Given the description of an element on the screen output the (x, y) to click on. 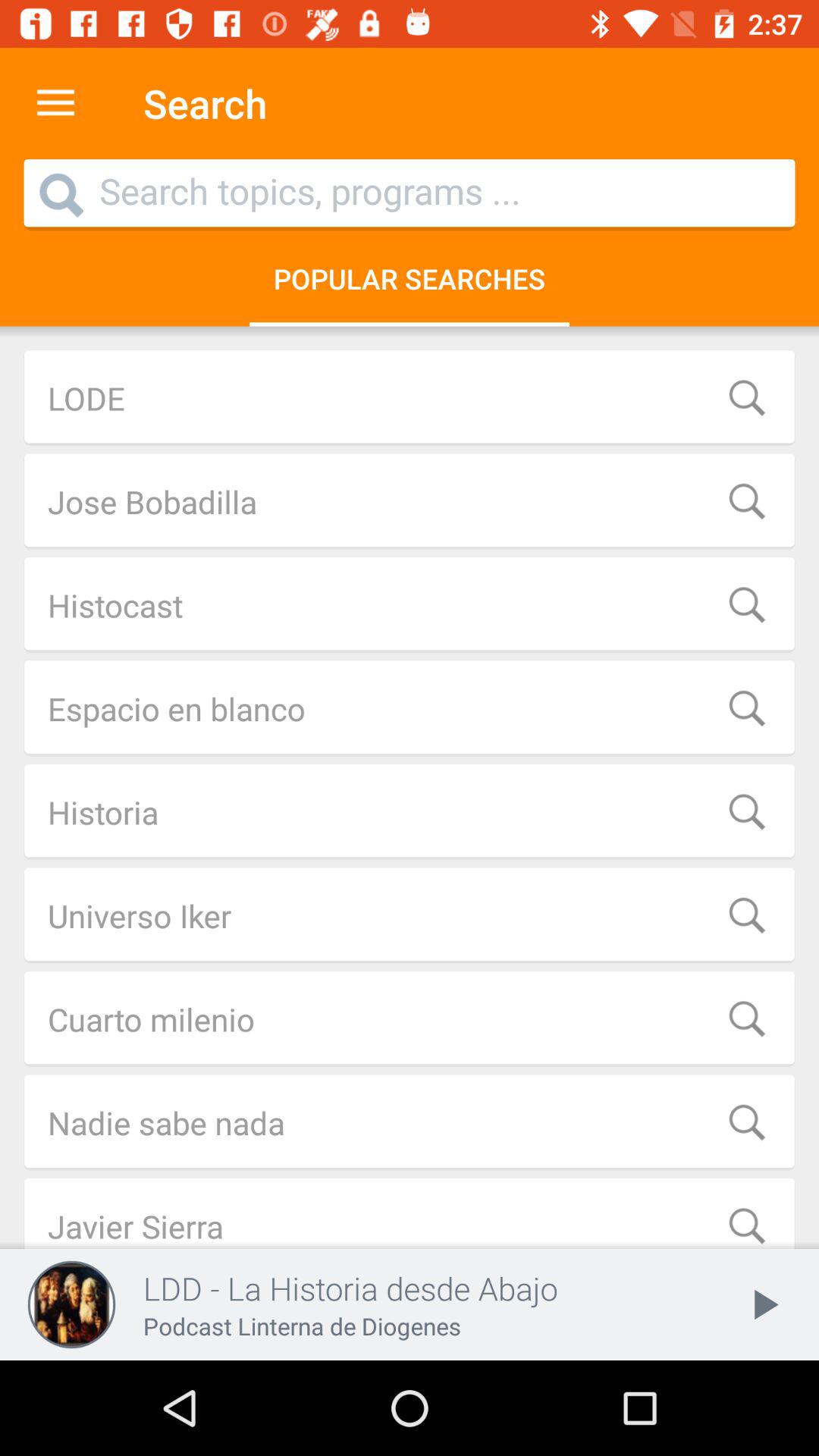
press javier sierra item (409, 1213)
